Given the description of an element on the screen output the (x, y) to click on. 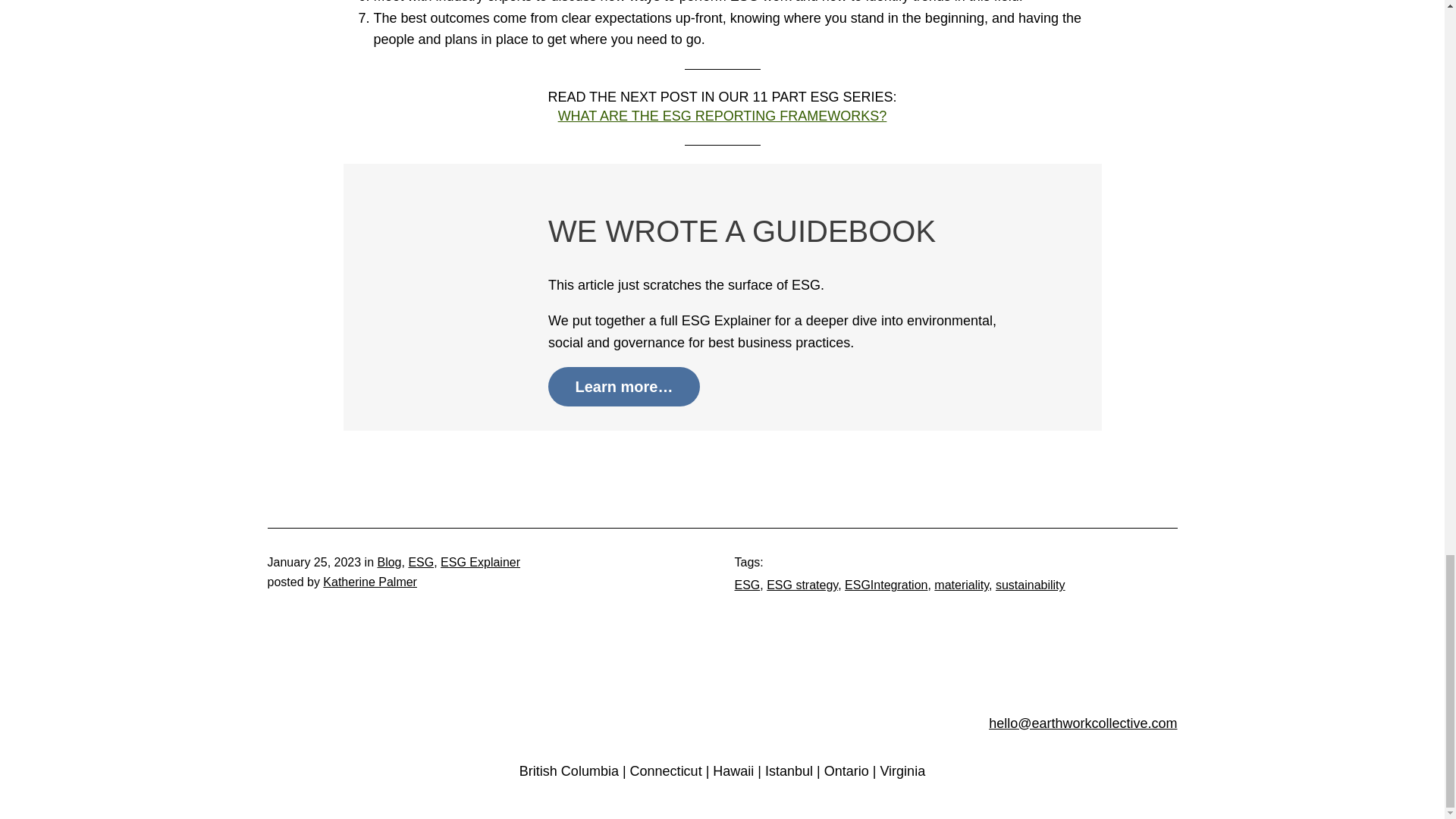
ESG strategy (802, 584)
ESG (746, 584)
materiality (961, 584)
Katherine Palmer (369, 581)
ESGIntegration (885, 584)
ESG Explainer (480, 562)
Blog (389, 562)
WHAT ARE THE ESG REPORTING FRAMEWORKS? (721, 115)
sustainability (1030, 584)
ESG (420, 562)
